Given the description of an element on the screen output the (x, y) to click on. 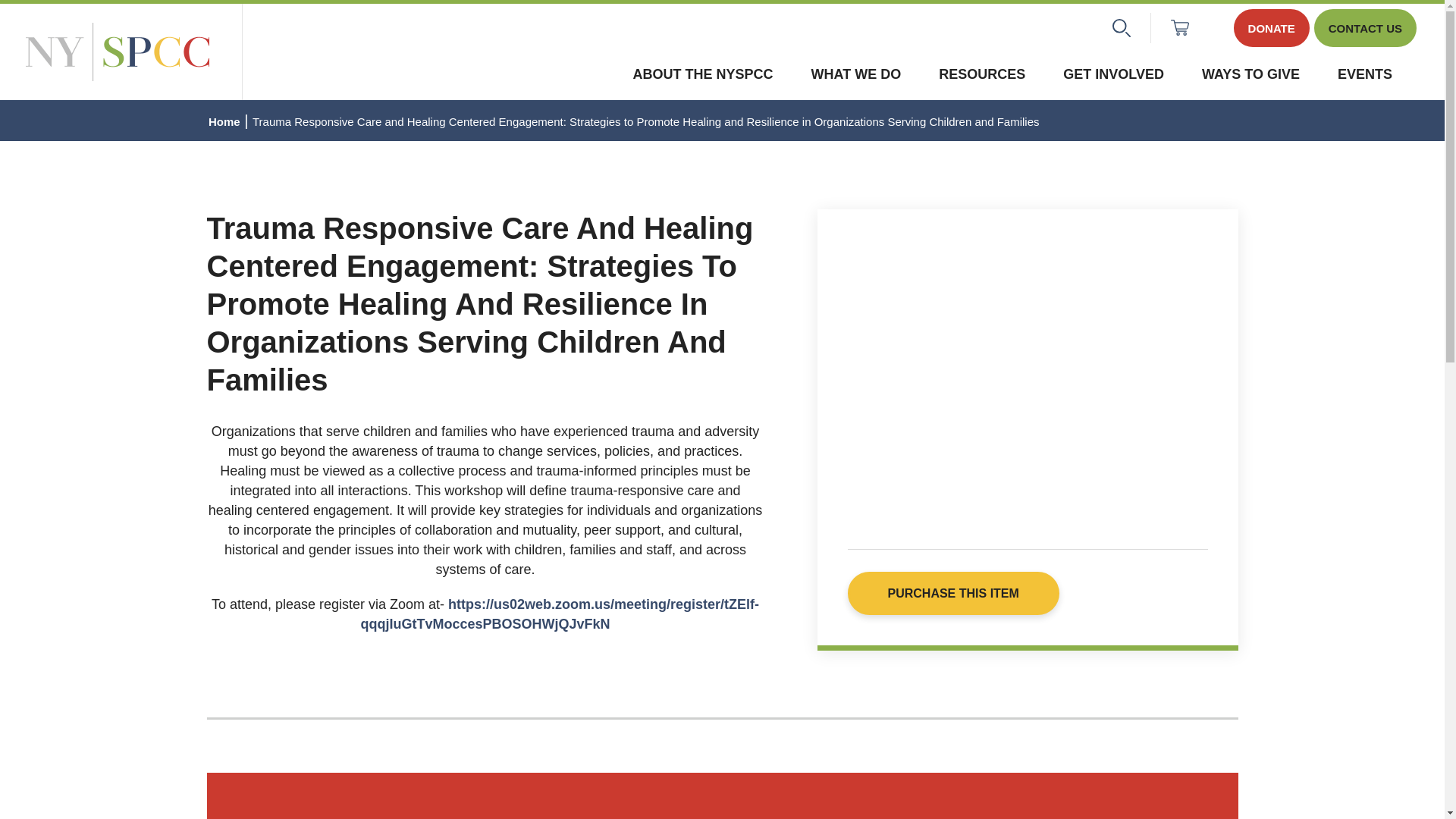
PURCHASE THIS ITEM (953, 593)
View your shopping cart (1179, 28)
DONATE (1270, 27)
RESOURCES (982, 76)
GET INVOLVED (1112, 76)
EVENTS (1364, 76)
WHAT WE DO (855, 76)
WAYS TO GIVE (1251, 76)
ABOUT THE NYSPCC (703, 76)
CONTACT US (1365, 27)
